Given the description of an element on the screen output the (x, y) to click on. 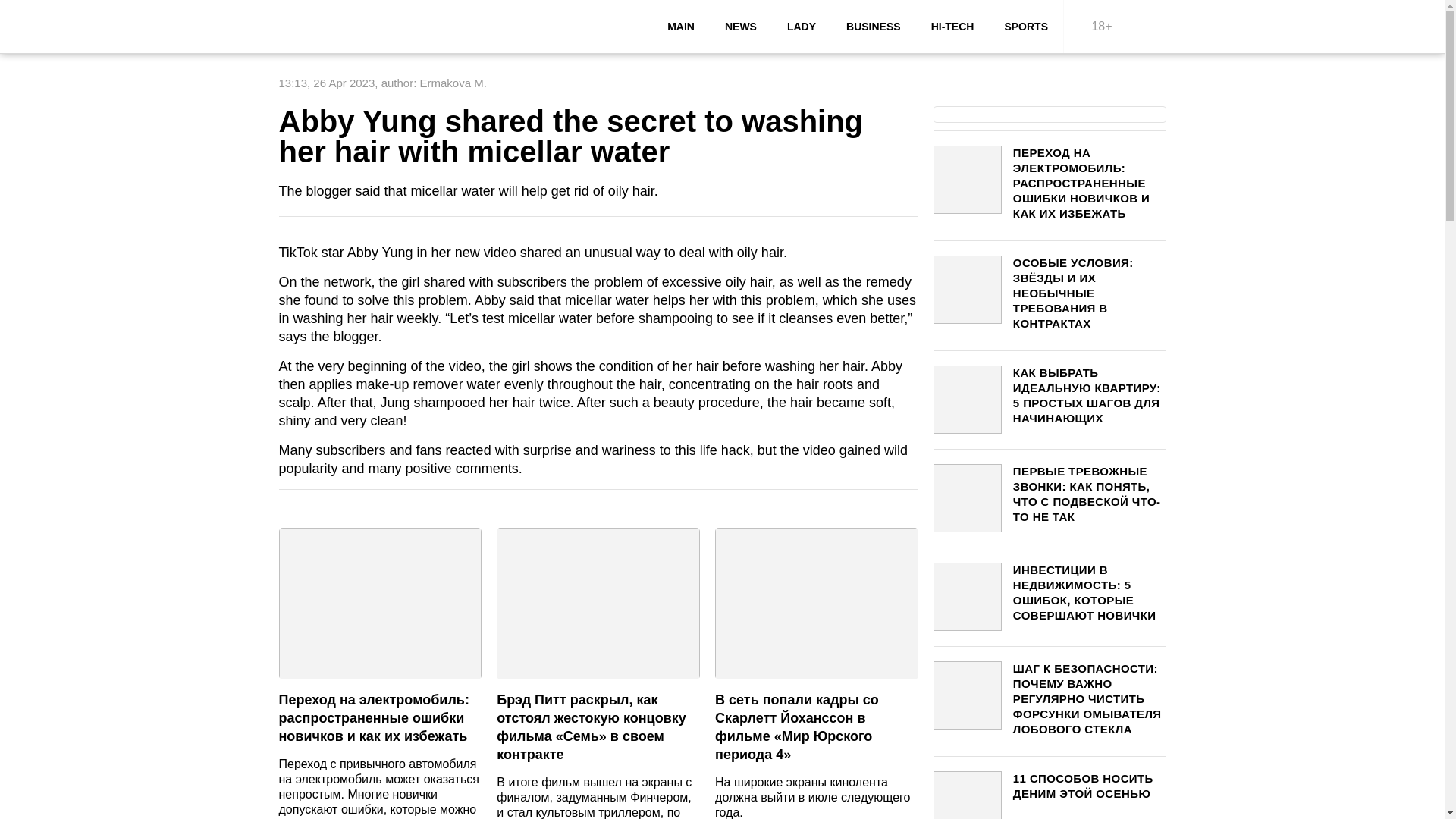
HI-TECH (952, 26)
MAIN (681, 26)
SPORTS (1025, 26)
NEWS (740, 26)
BUSINESS (873, 26)
LADY (801, 26)
